Given the description of an element on the screen output the (x, y) to click on. 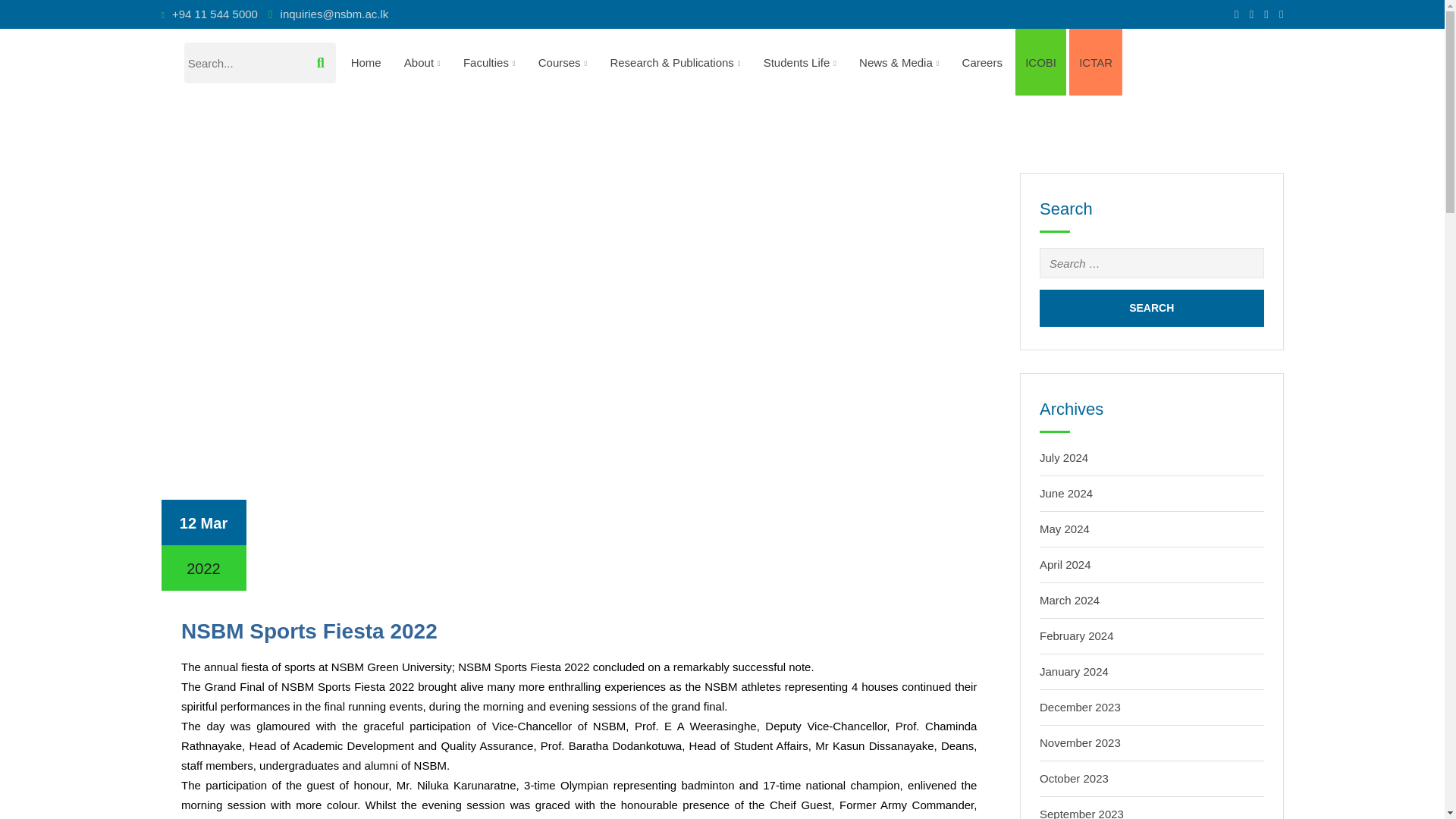
Search (1151, 307)
Search (1151, 307)
Faculties (488, 62)
